Given the description of an element on the screen output the (x, y) to click on. 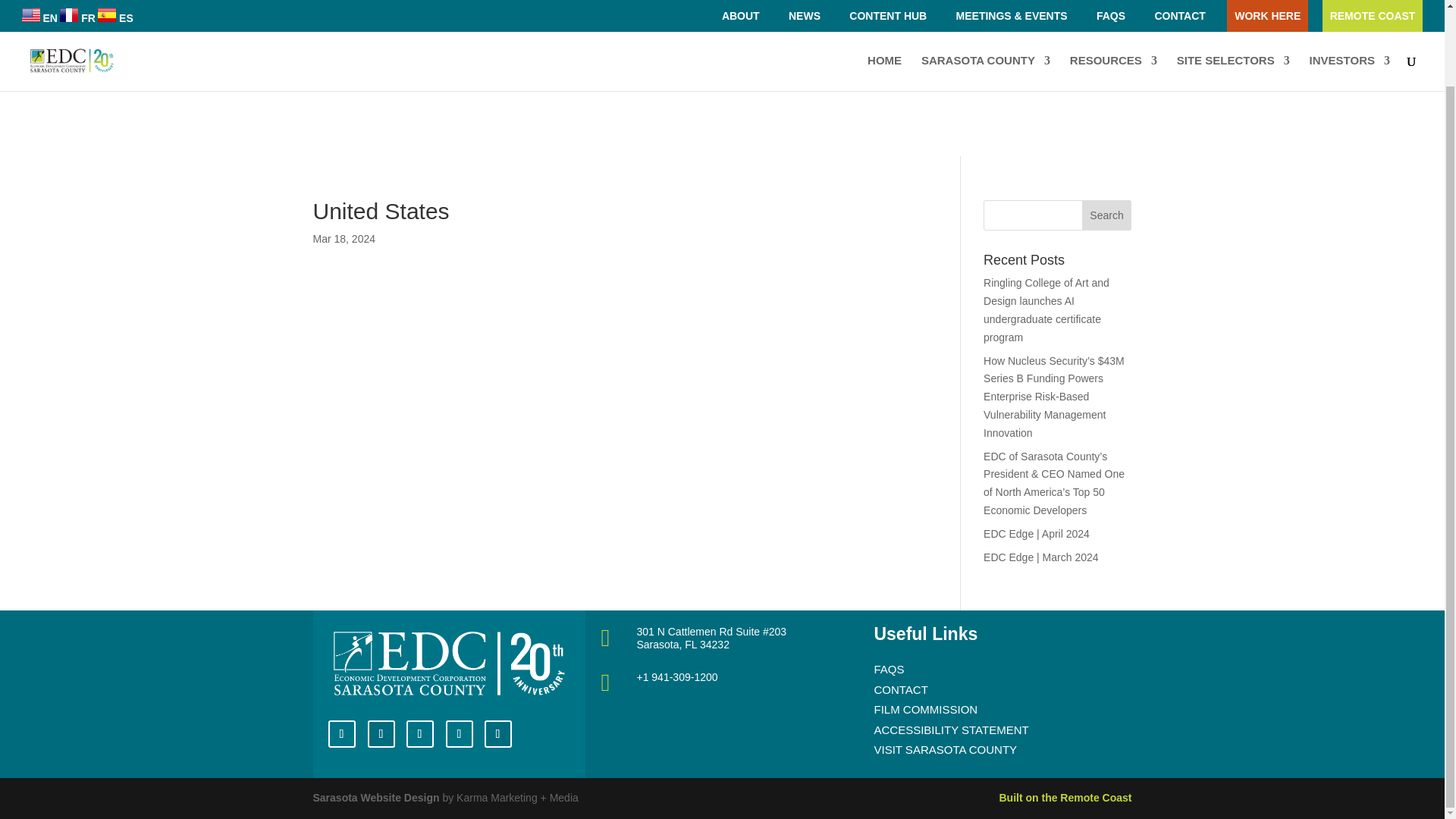
Follow on Vimeo (497, 733)
Search (1106, 214)
Follow on LinkedIn (341, 733)
Follow on Facebook (419, 733)
Follow on Instagram (459, 733)
Follow on Youtube (380, 733)
SARASOTA COUNTY (985, 2)
HOME (884, 2)
